Given the description of an element on the screen output the (x, y) to click on. 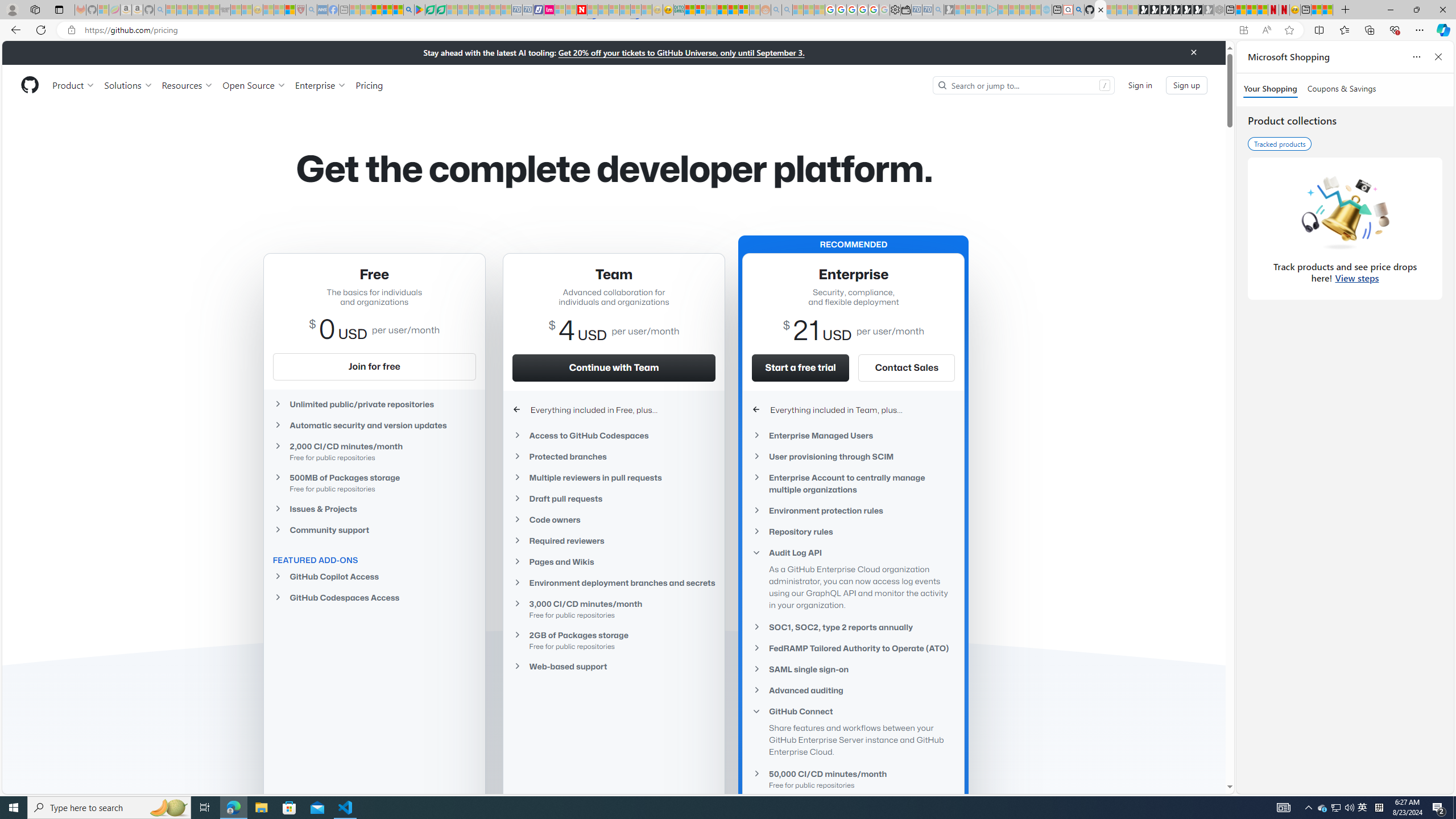
2GB of Packages storage Free for public repositories (614, 640)
Pages and Wikis (614, 561)
